Given the description of an element on the screen output the (x, y) to click on. 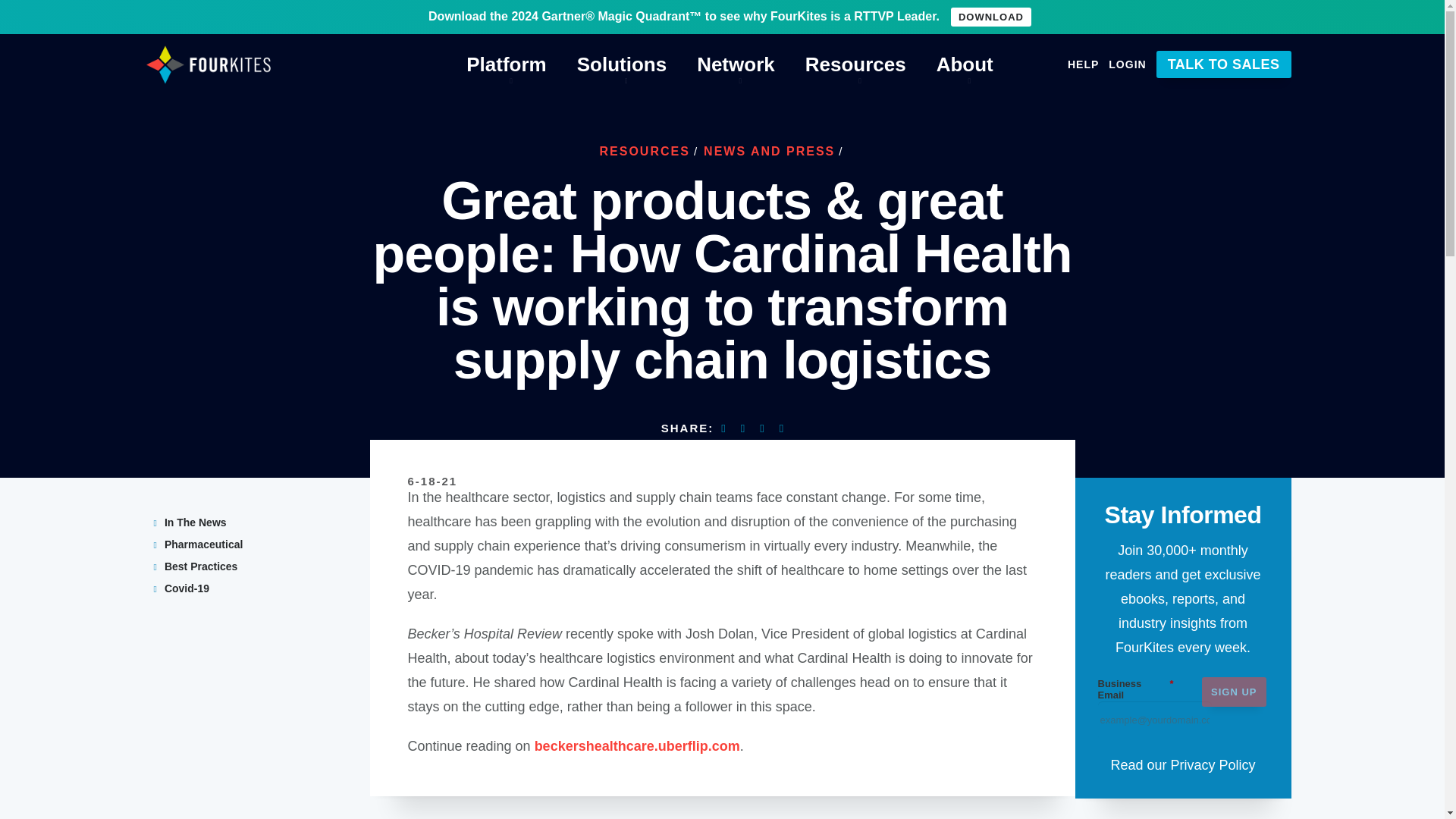
Solutions (621, 64)
DOWNLOAD (990, 16)
Platform (505, 64)
